Given the description of an element on the screen output the (x, y) to click on. 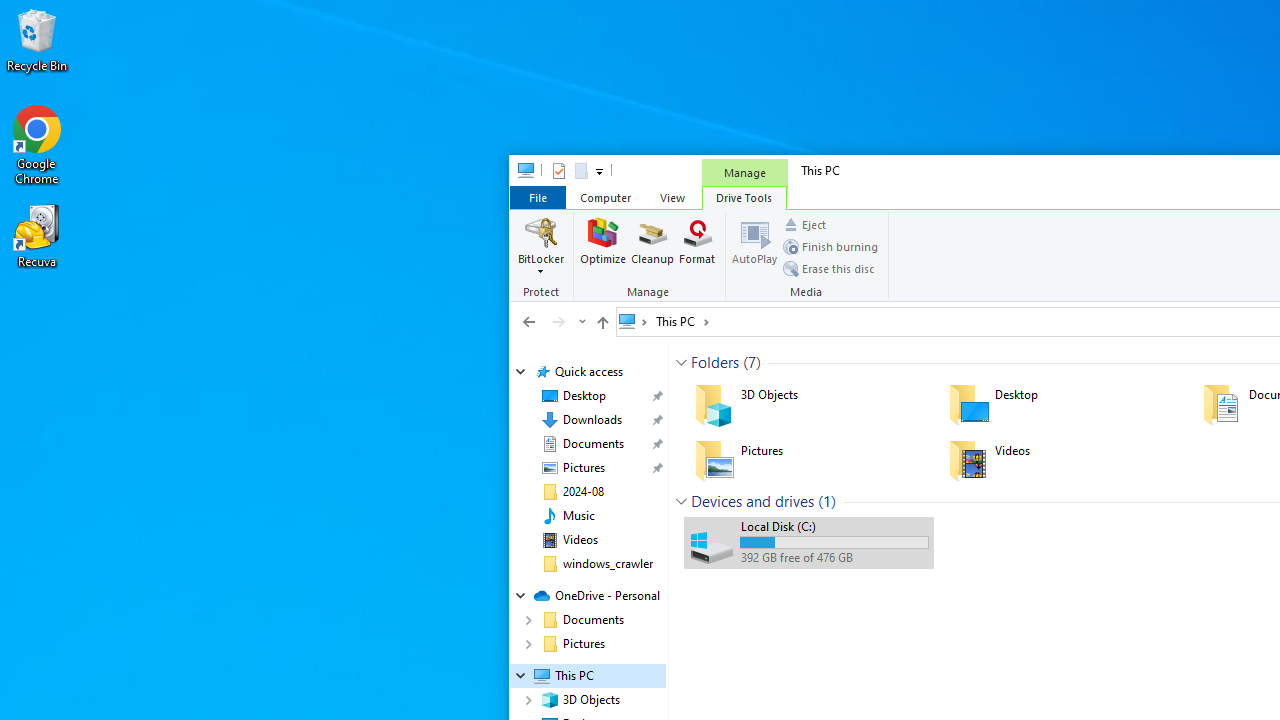
Computer (605, 196)
Forward (Alt + Right Arrow) (558, 321)
Available space (834, 557)
Quick Access Toolbar (569, 170)
2024-08 (582, 491)
Music (578, 515)
Protect (543, 255)
Videos (1062, 460)
AutoPlay (754, 246)
BitLocker (541, 246)
Space used (834, 542)
Pictures (808, 460)
Pictures (pinned) (583, 467)
Optimize (603, 246)
Customize Quick Access Toolbar (598, 170)
